Given the description of an element on the screen output the (x, y) to click on. 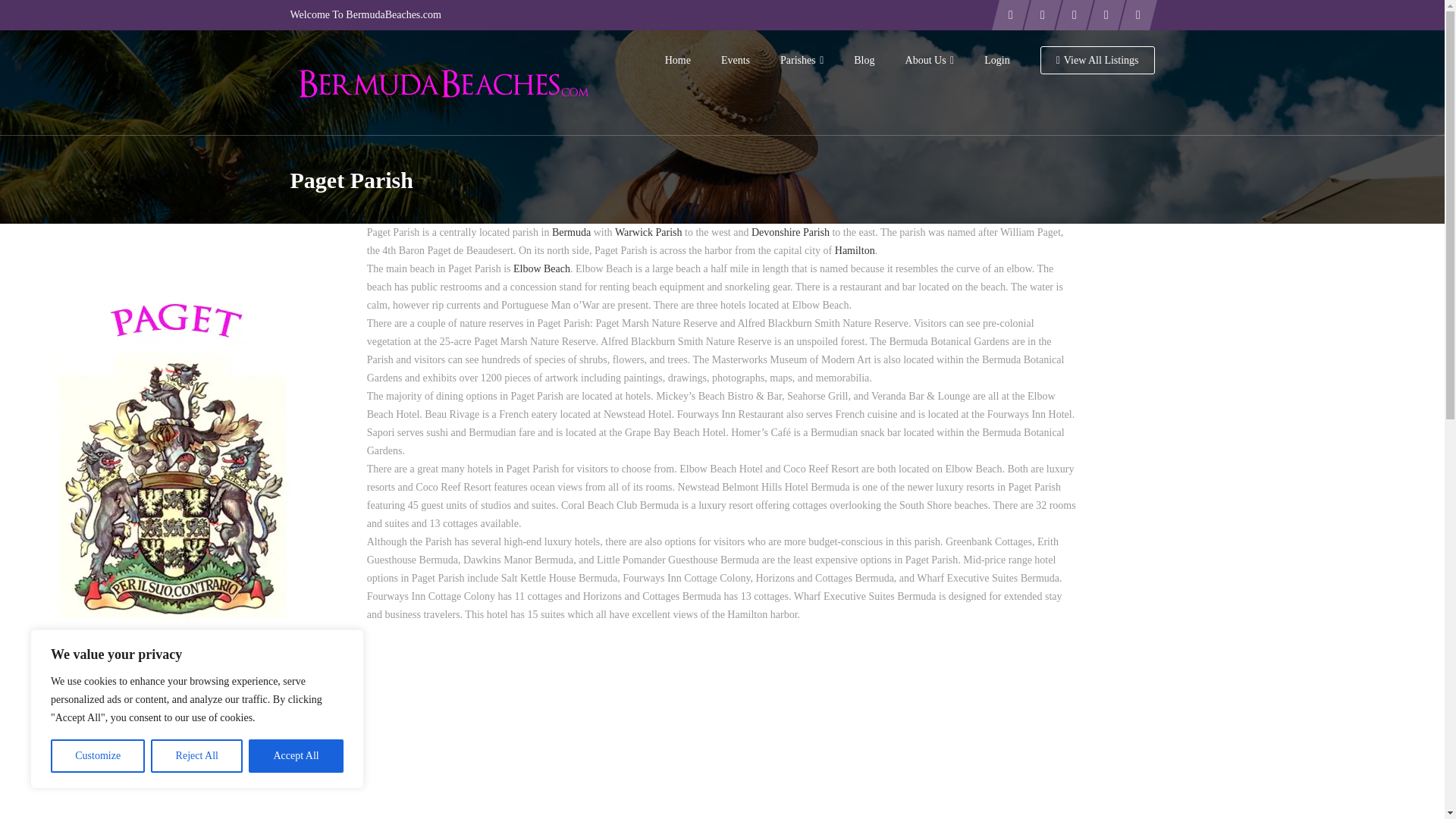
Blog (863, 60)
Accept All (295, 756)
Reject All (197, 756)
Login (996, 60)
Events (735, 60)
About Us (929, 60)
Customize (97, 756)
Home (677, 60)
Parishes (801, 60)
View All Listings (1097, 60)
